Given the description of an element on the screen output the (x, y) to click on. 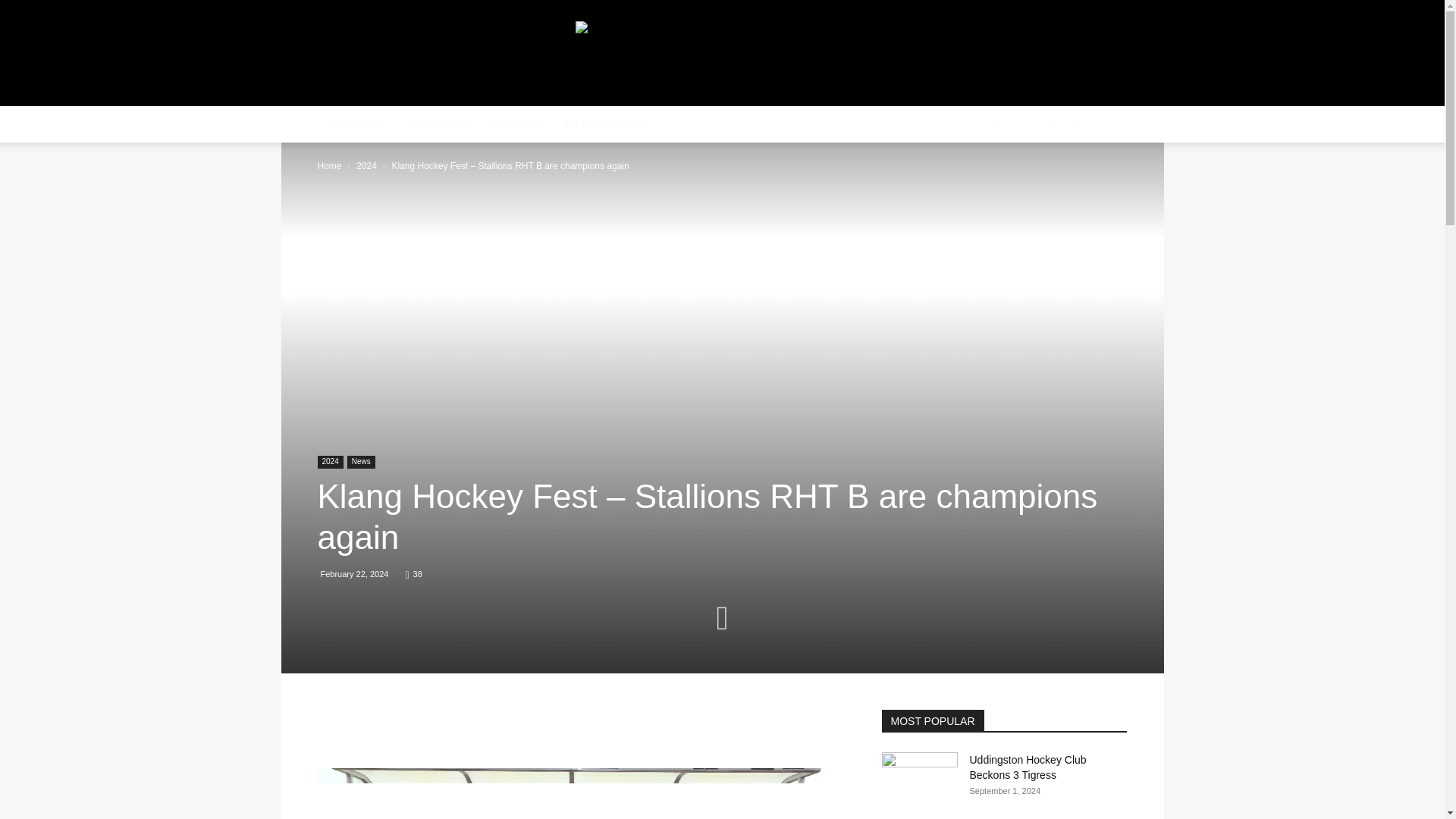
BADMINTON (438, 124)
FOOTBALL (356, 124)
Sports247.my (445, 55)
